Given the description of an element on the screen output the (x, y) to click on. 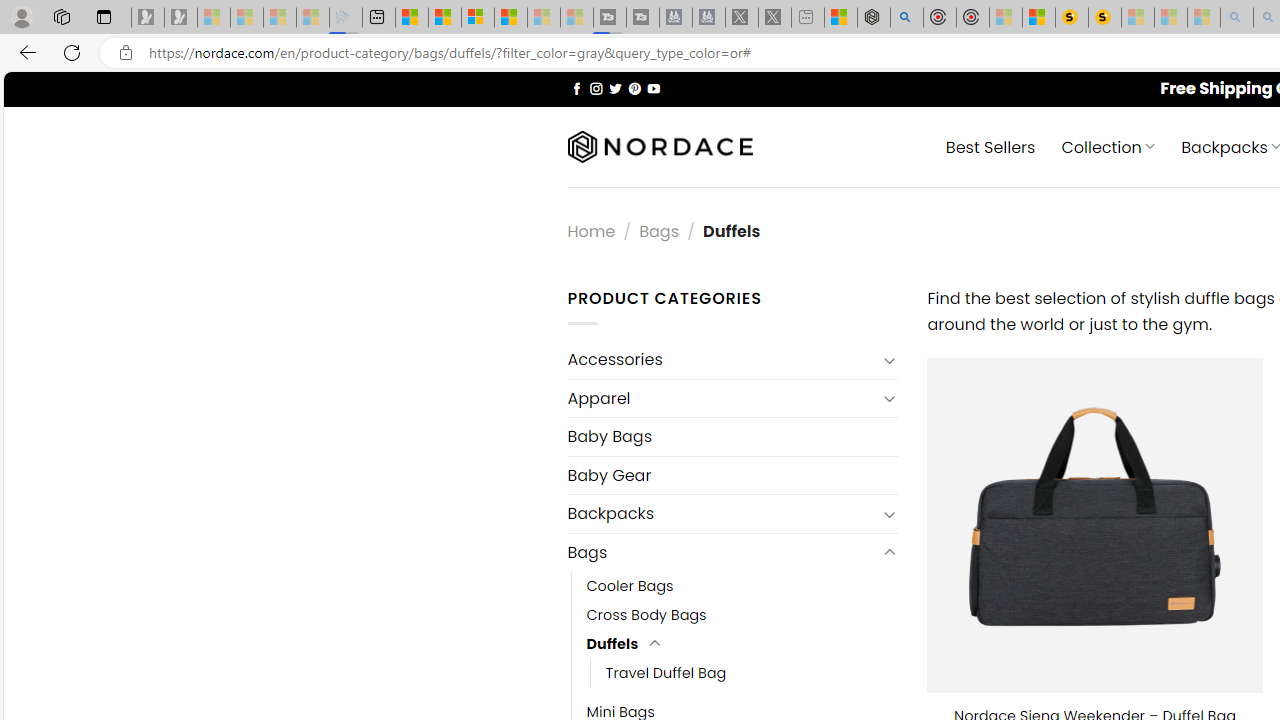
Follow on Pinterest (634, 88)
Follow on Facebook (576, 88)
Follow on Twitter (615, 88)
Apparel (721, 398)
Baby Gear (732, 475)
Baby Bags (732, 436)
